Given the description of an element on the screen output the (x, y) to click on. 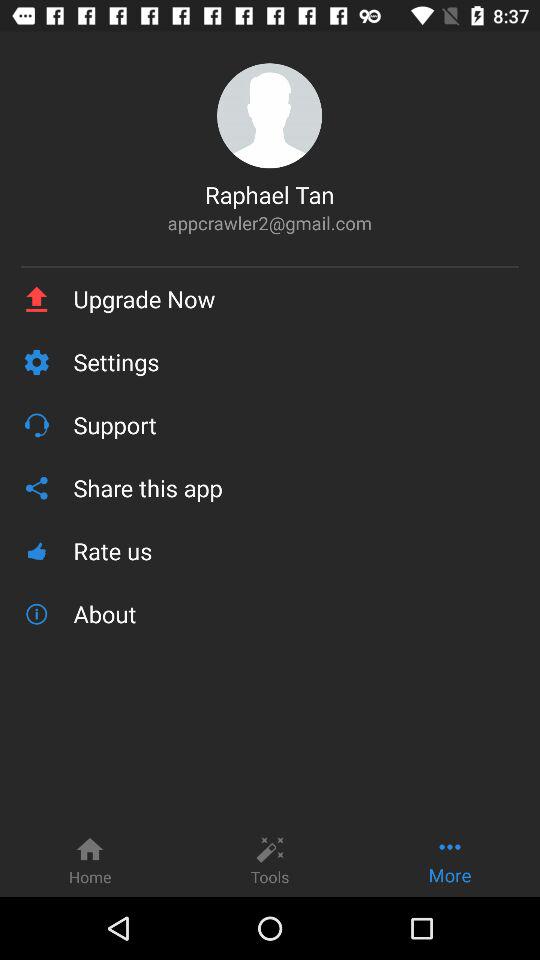
choose the icon below the raphael tan item (269, 222)
